Given the description of an element on the screen output the (x, y) to click on. 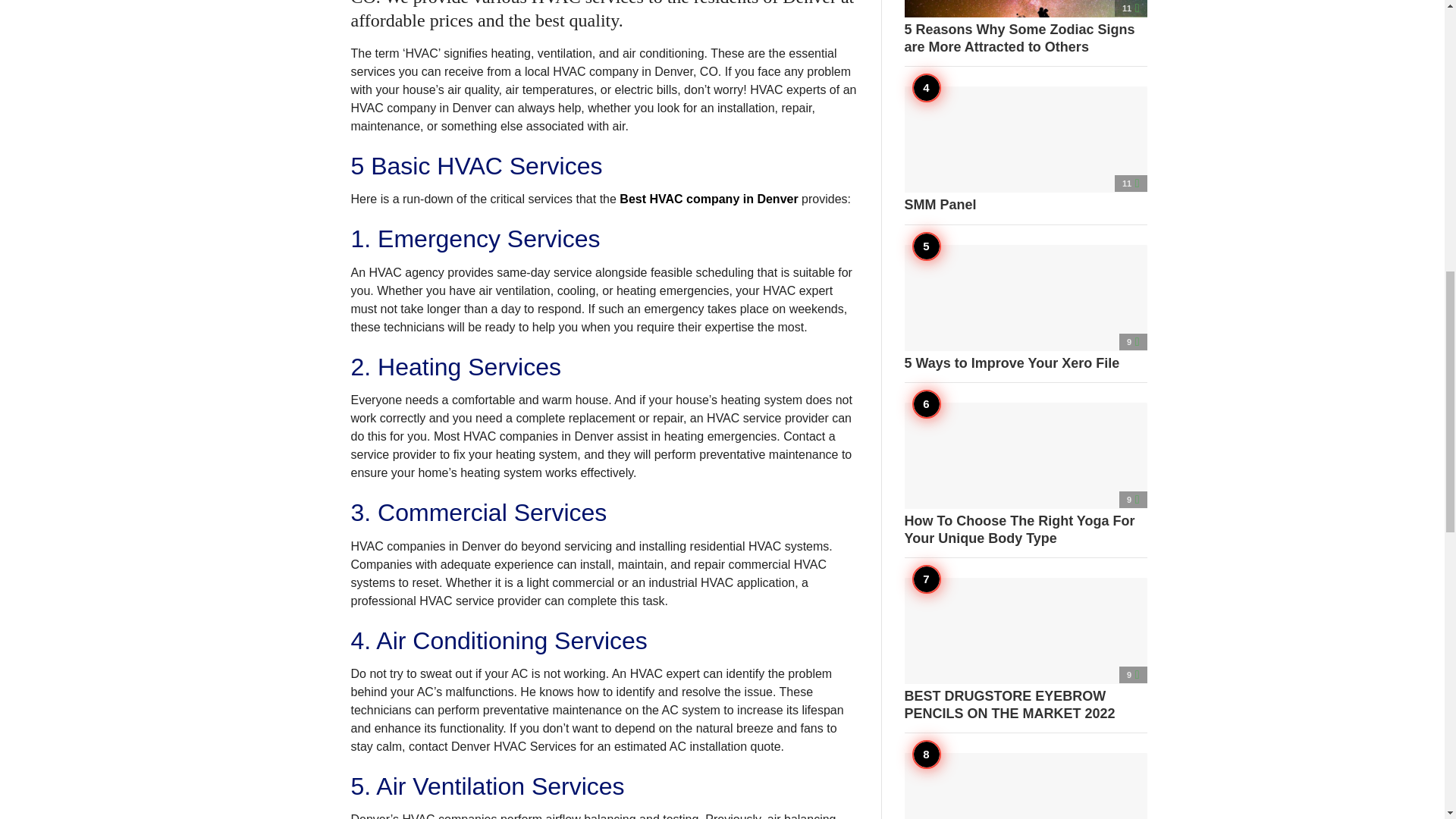
5 Reasons Why Some Zodiac Signs are More Attracted to Others (1025, 27)
BEST DRUGSTORE EYEBROW PENCILS ON THE MARKET 2022 (1025, 649)
How To Choose The Right Yoga For Your Unique Body Type (1025, 474)
5 Ways to Improve Your Xero File (1025, 307)
SMM Panel (1025, 149)
